Given the description of an element on the screen output the (x, y) to click on. 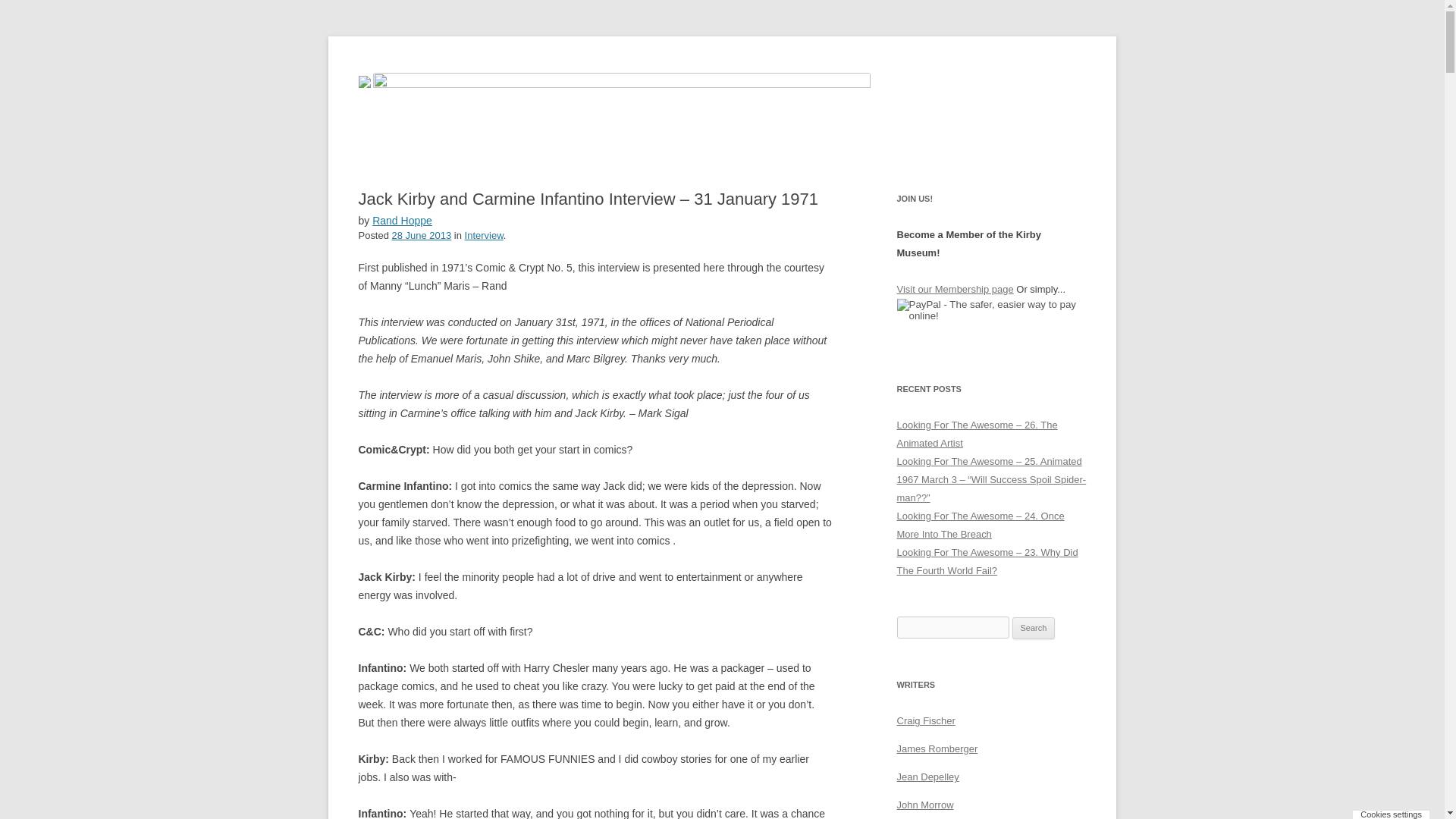
View all posts by Rand Hoppe (402, 220)
Posts by Craig Fischer (925, 720)
Search (1033, 628)
2:33 am (421, 235)
28 June 2013 (421, 235)
Posts by Jean Depelley (927, 776)
Interview (483, 235)
Posts by James Romberger (936, 748)
The Kirby Effect (433, 72)
Rand Hoppe (402, 220)
